Given the description of an element on the screen output the (x, y) to click on. 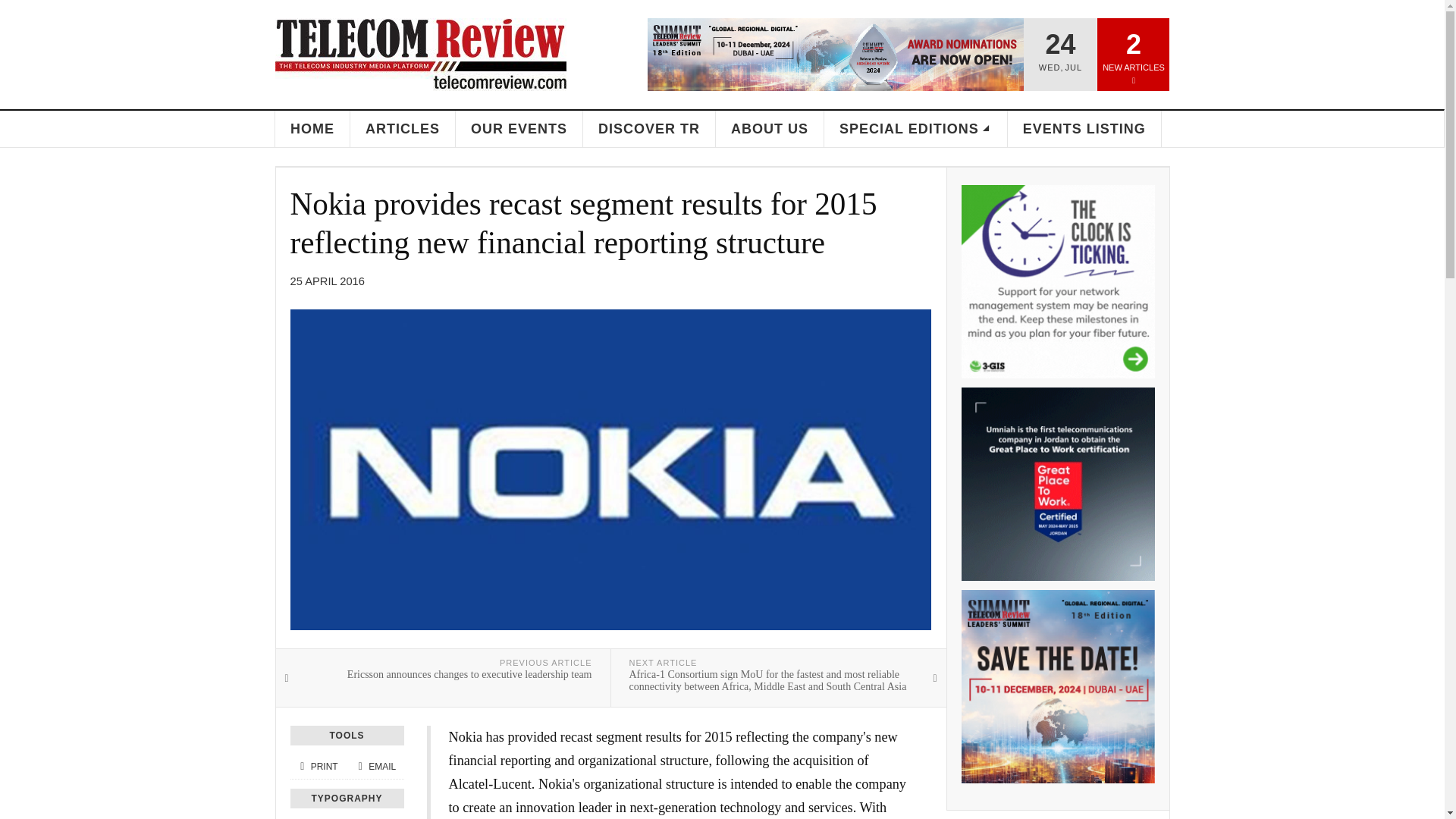
Published:  (326, 281)
Email (375, 766)
2024 03 TRS WB (1057, 685)
Telecom Review (420, 54)
2024 07 TRS Awards Top WB (835, 54)
Print (318, 766)
2024 07 Umniah Jordan WB (1057, 483)
2024 07 3GIS Top Side WB (1057, 281)
HOME (312, 128)
